Given the description of an element on the screen output the (x, y) to click on. 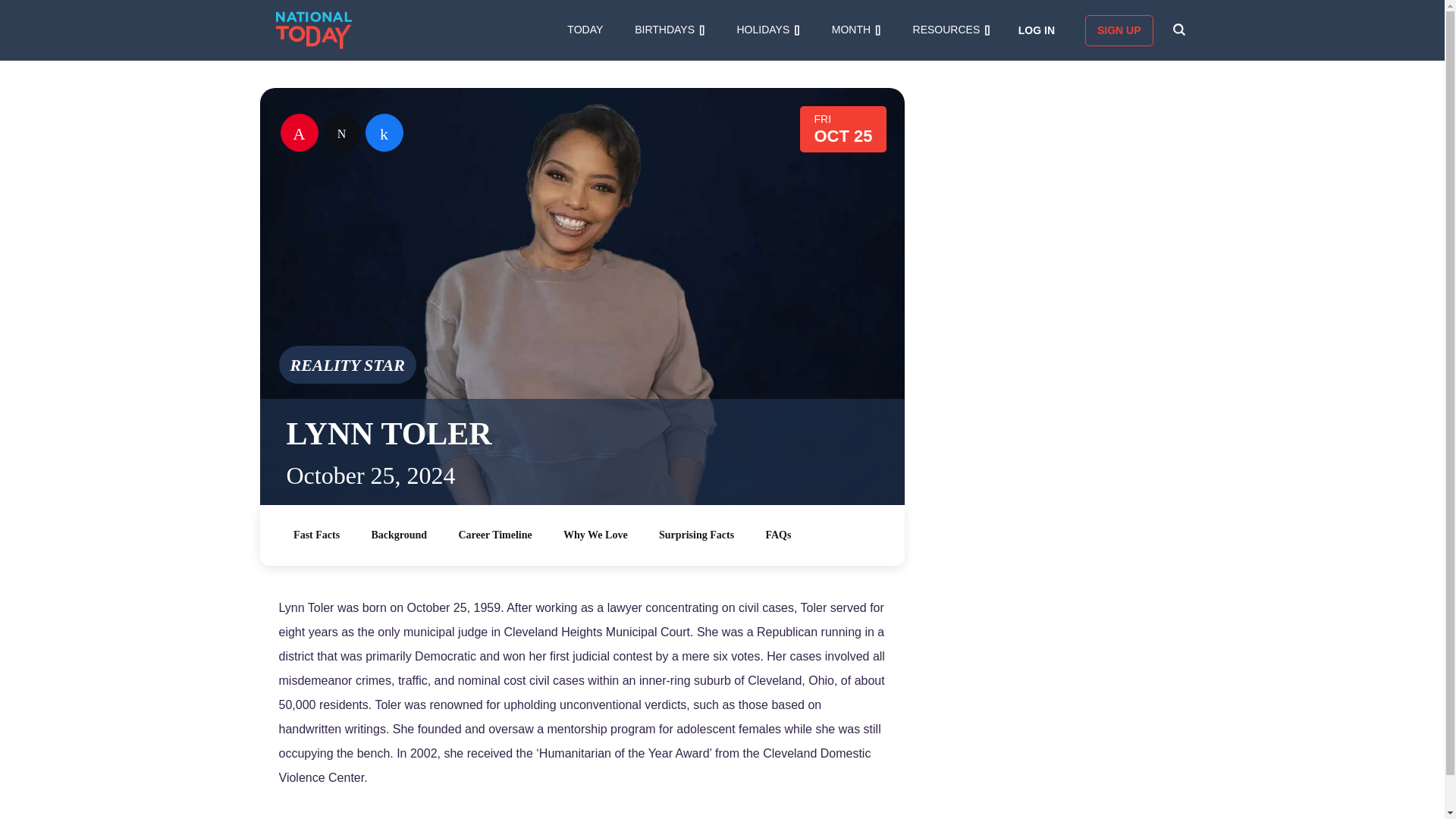
SEARCH (1178, 29)
HOLIDAYS (767, 29)
TODAY (584, 29)
National Today (314, 30)
BIRTHDAYS (669, 29)
MONTH (855, 29)
National Today (314, 30)
